Given the description of an element on the screen output the (x, y) to click on. 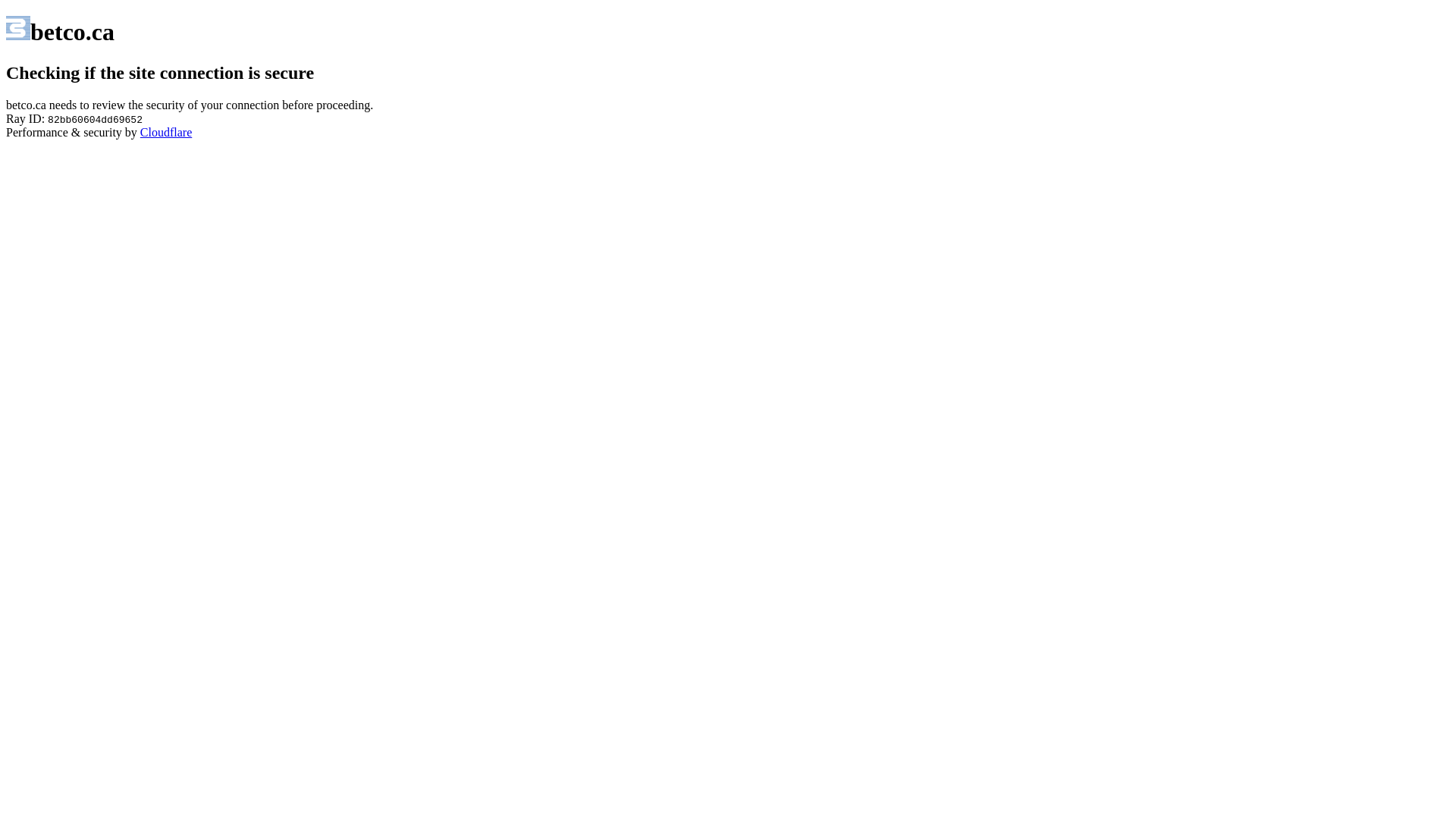
Cloudflare Element type: text (165, 131)
